Given the description of an element on the screen output the (x, y) to click on. 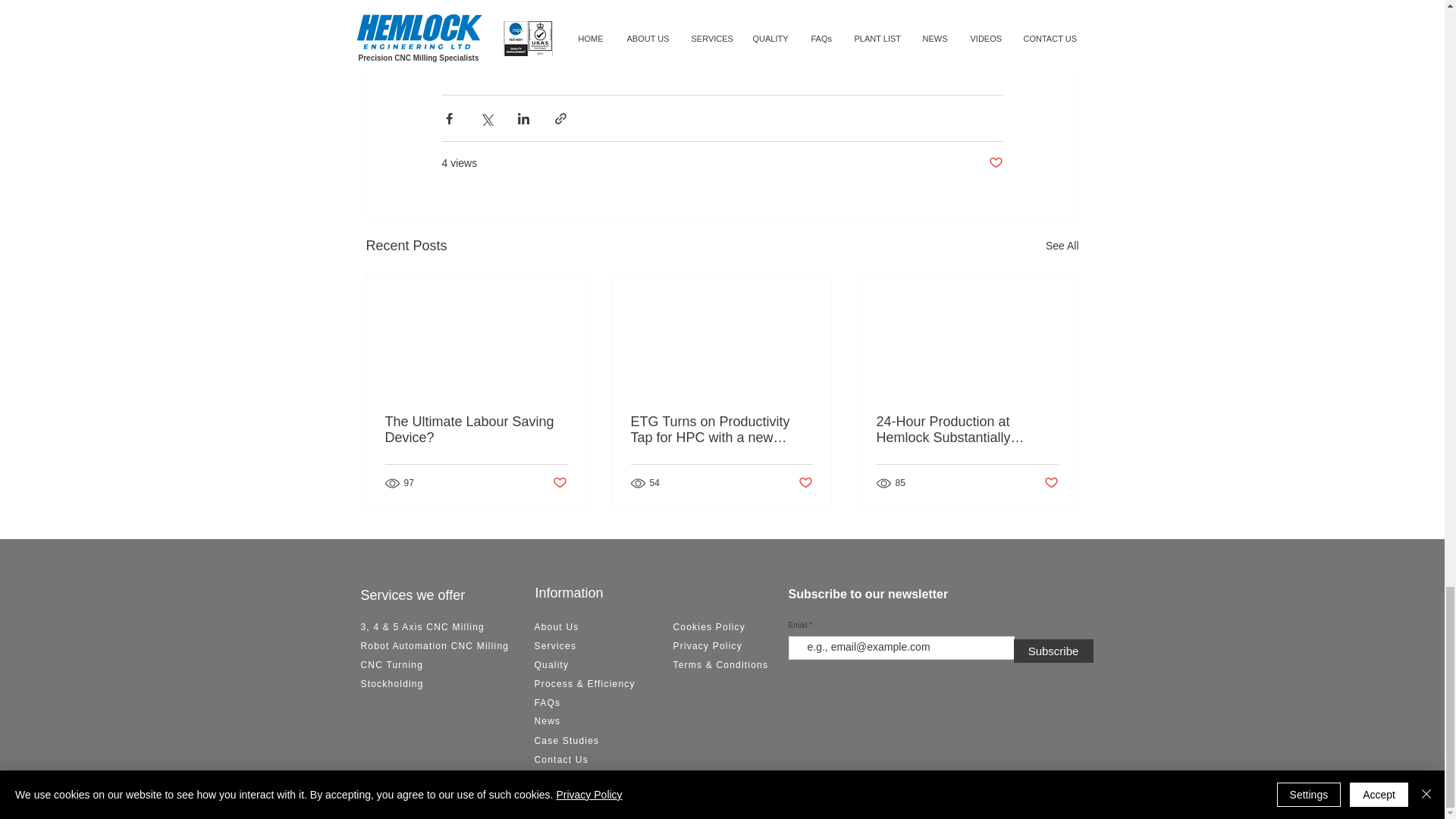
Post not marked as liked (804, 483)
The Ultimate Labour Saving Device? (476, 429)
Post not marked as liked (995, 163)
Post not marked as liked (1050, 483)
Robot Automation CNC Milling (435, 645)
Post not marked as liked (558, 483)
Stockholding (392, 683)
CNC Turning (392, 665)
